Given the description of an element on the screen output the (x, y) to click on. 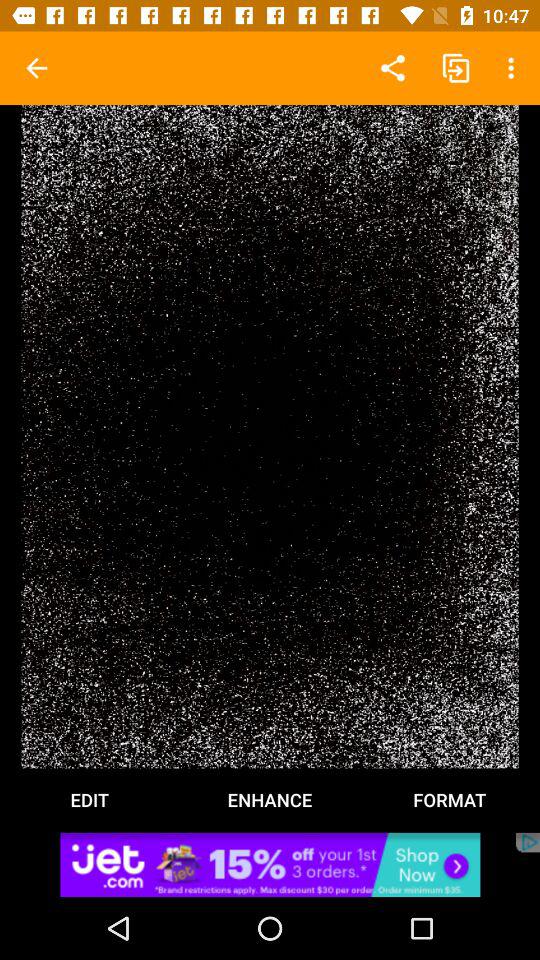
edit format (270, 436)
